Given the description of an element on the screen output the (x, y) to click on. 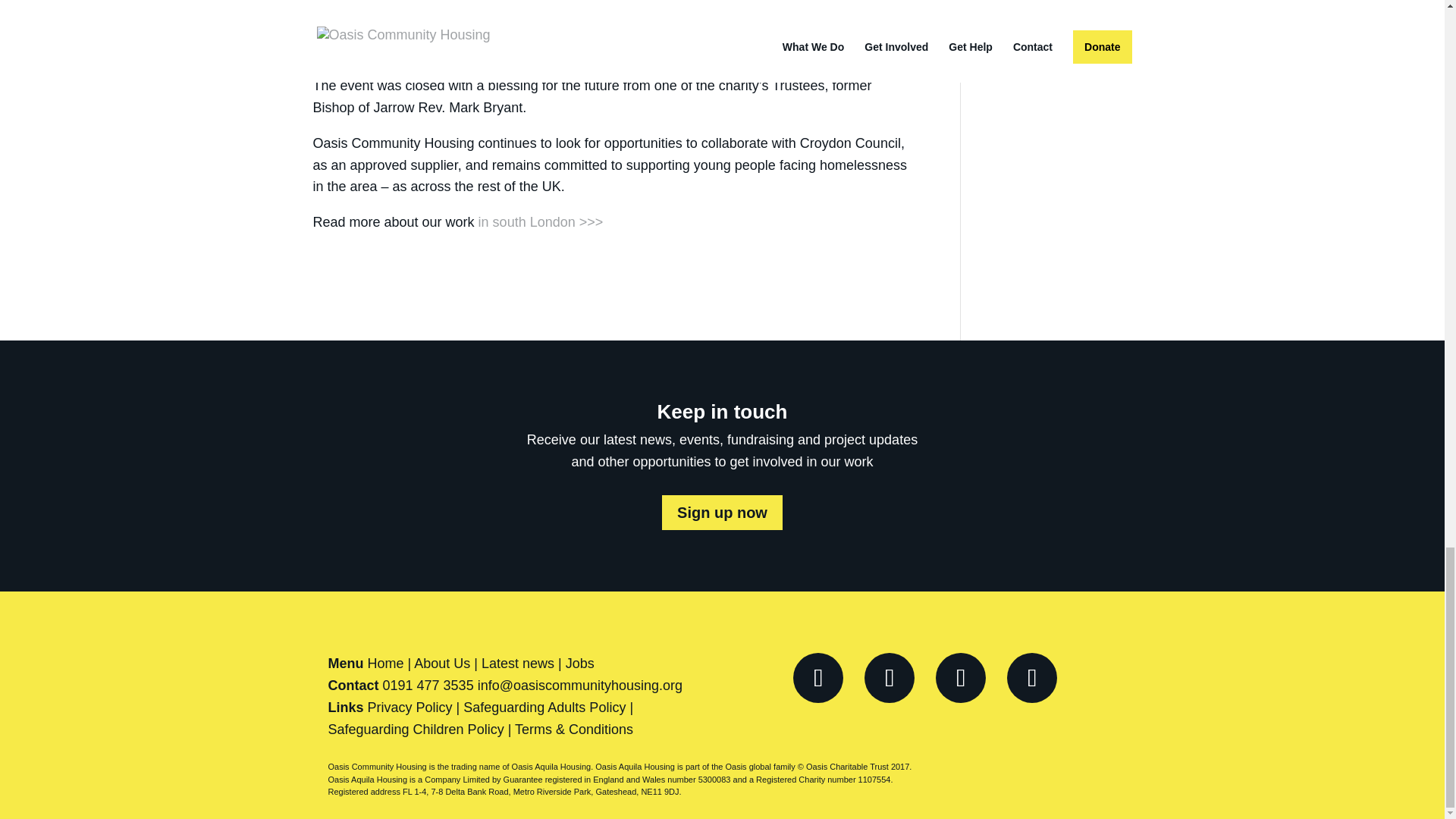
Follow on Instagram (960, 677)
Latest news (517, 663)
Follow on LinkedIn (1032, 677)
Follow on Facebook (818, 677)
About Us (441, 663)
Jobs (580, 663)
Sign up now (722, 512)
0191 477 3535 (428, 685)
Follow on Twitter (889, 677)
Home (386, 663)
